Given the description of an element on the screen output the (x, y) to click on. 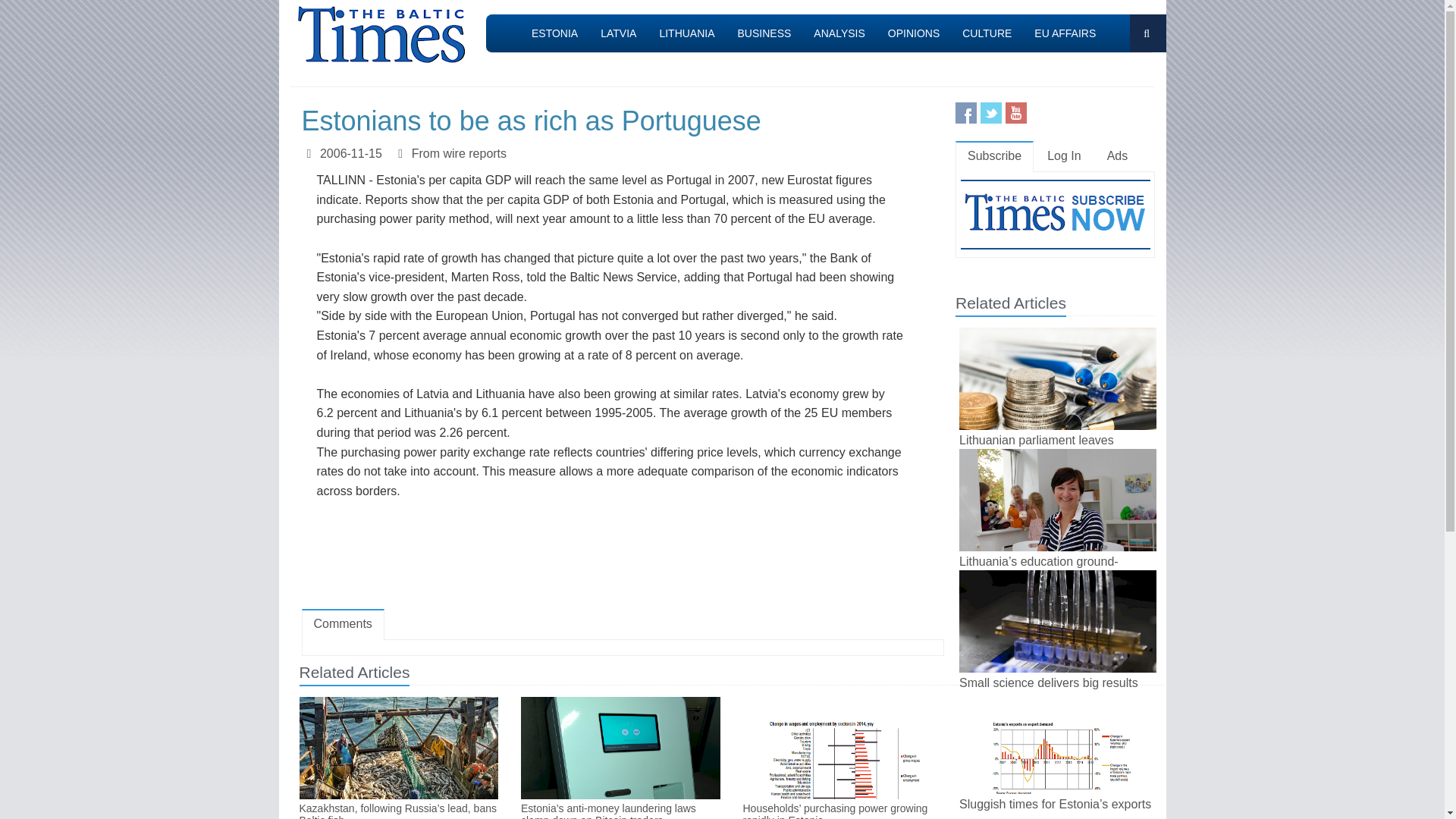
ESTONIA (554, 33)
Advertisement (622, 554)
CULTURE (986, 33)
ANALYSIS (839, 33)
LITHUANIA (686, 33)
OPINIONS (913, 33)
Log In (1064, 155)
BUSINESS (764, 33)
Comments (342, 624)
LATVIA (618, 33)
